Given the description of an element on the screen output the (x, y) to click on. 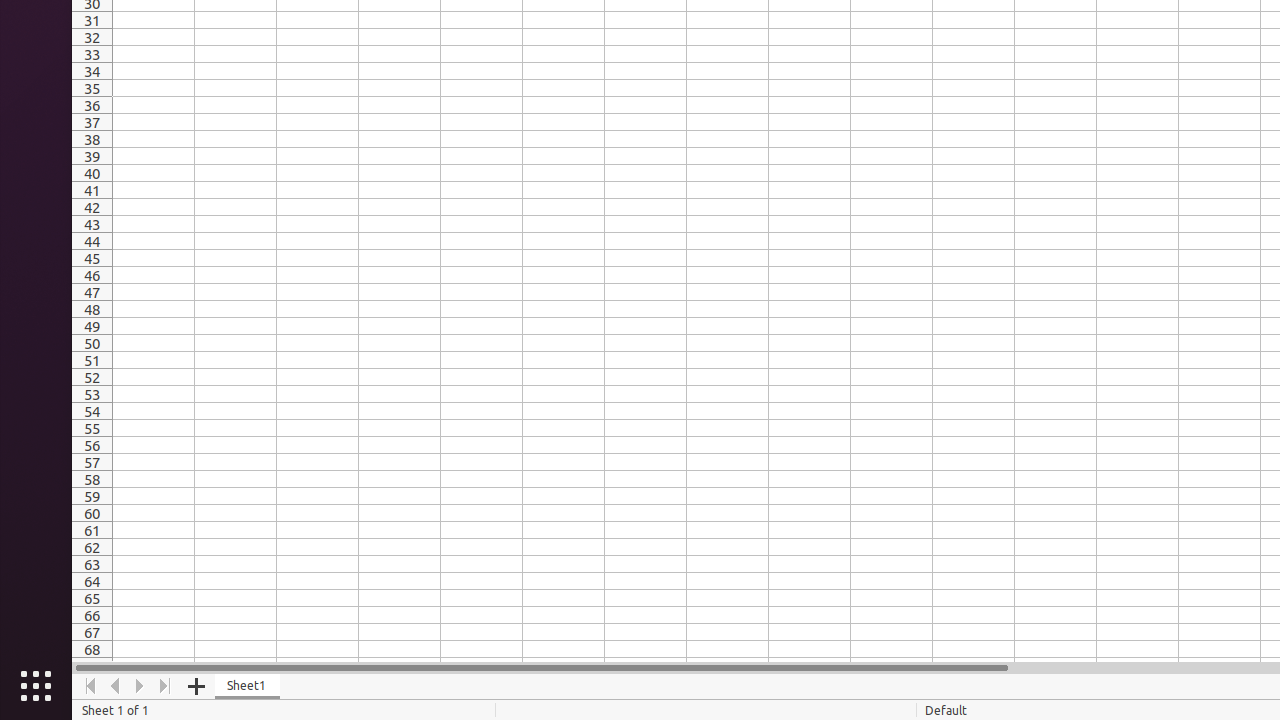
Move Right Element type: push-button (140, 686)
